Given the description of an element on the screen output the (x, y) to click on. 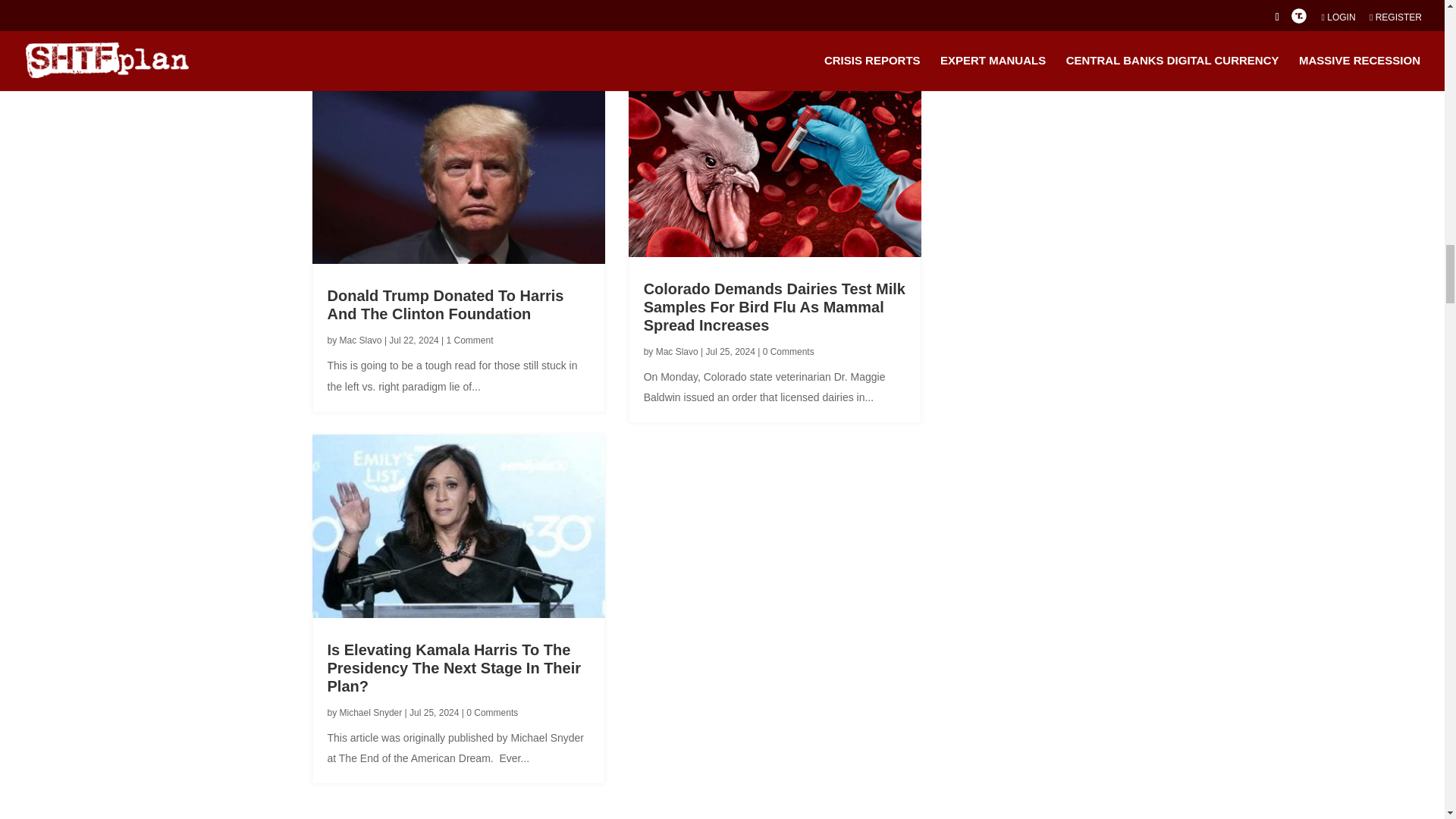
Mac Slavo (360, 339)
Posts by Mac Slavo (677, 351)
Donald Trump Donated To Harris And The Clinton Foundation (445, 304)
Mac Slavo (677, 351)
Posts by Michael Snyder (371, 712)
Michael Snyder (371, 712)
Posts by Mac Slavo (360, 339)
